Given the description of an element on the screen output the (x, y) to click on. 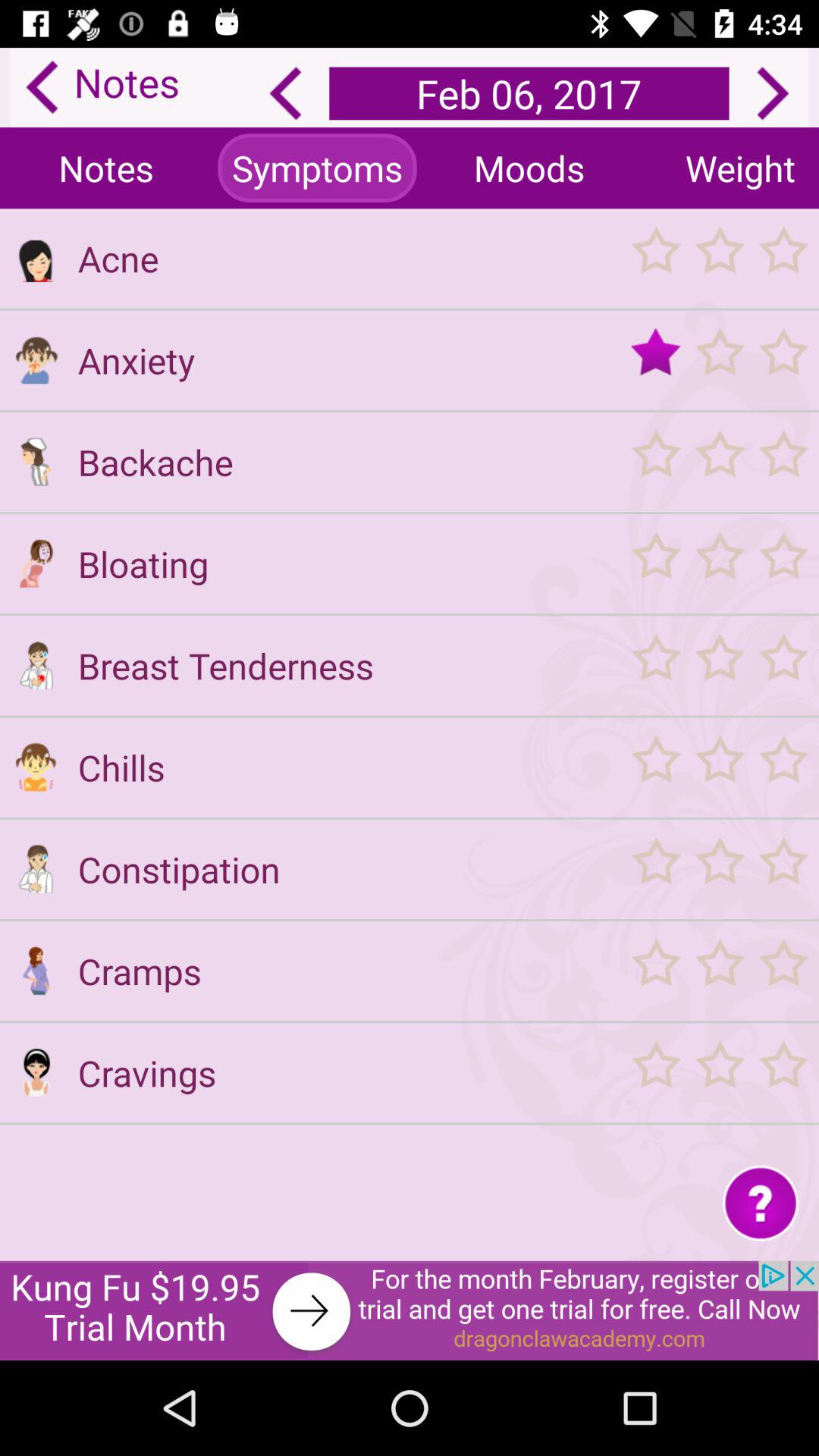
symptom constipation icon (35, 868)
